Given the description of an element on the screen output the (x, y) to click on. 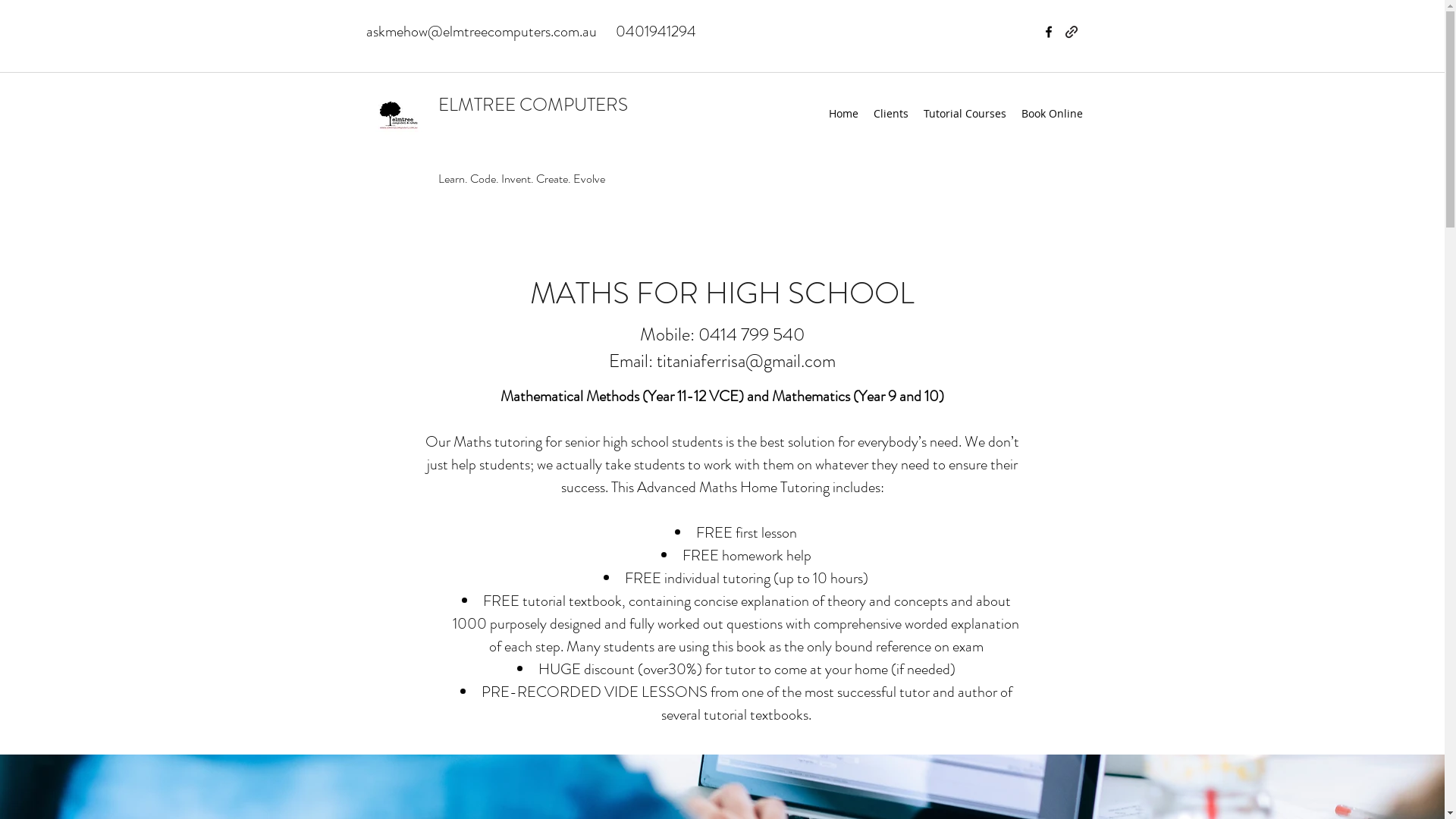
Clients Element type: text (891, 113)
Tutorial Courses Element type: text (964, 113)
titaniaferrisa@gmail.com Element type: text (745, 360)
askmehow@elmtreecomputers.com.au Element type: text (480, 31)
Home Element type: text (842, 113)
Book Online Element type: text (1051, 113)
